Given the description of an element on the screen output the (x, y) to click on. 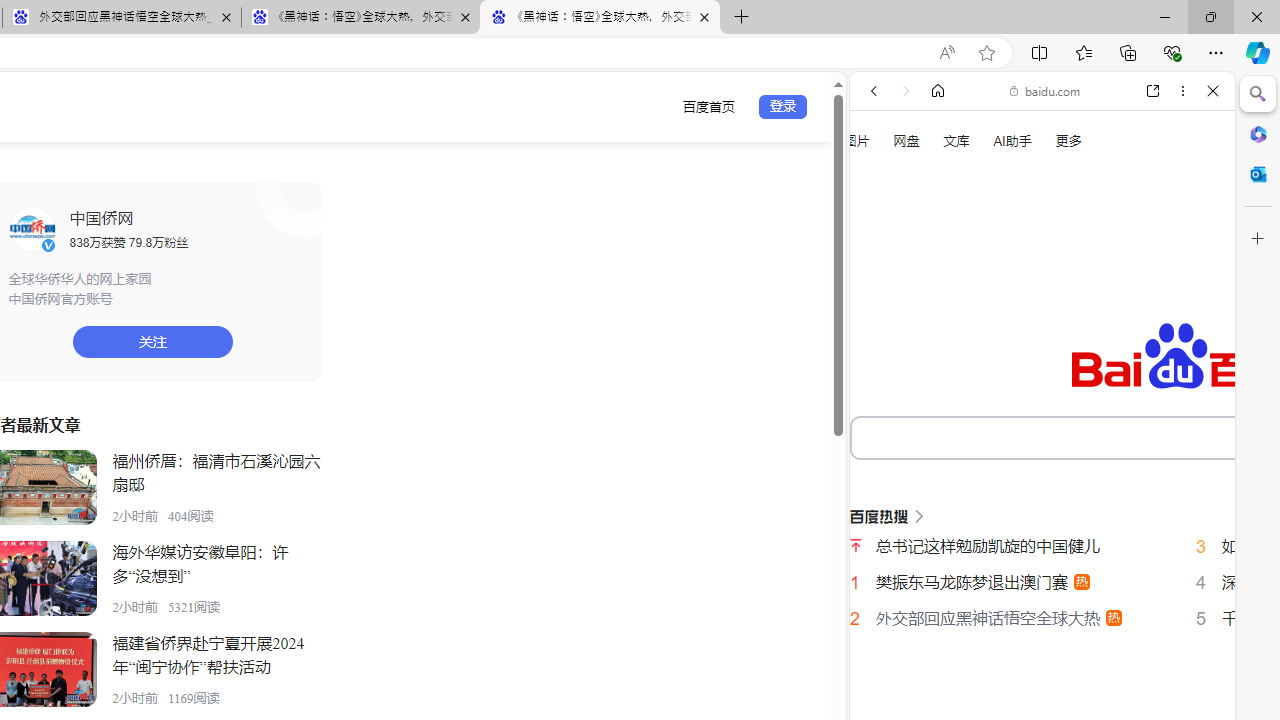
Class: b_serphb (1190, 339)
English (Uk) (1042, 622)
Search Filter, Search Tools (1093, 339)
OF | English meaning - Cambridge Dictionary (1034, 419)
